Given the description of an element on the screen output the (x, y) to click on. 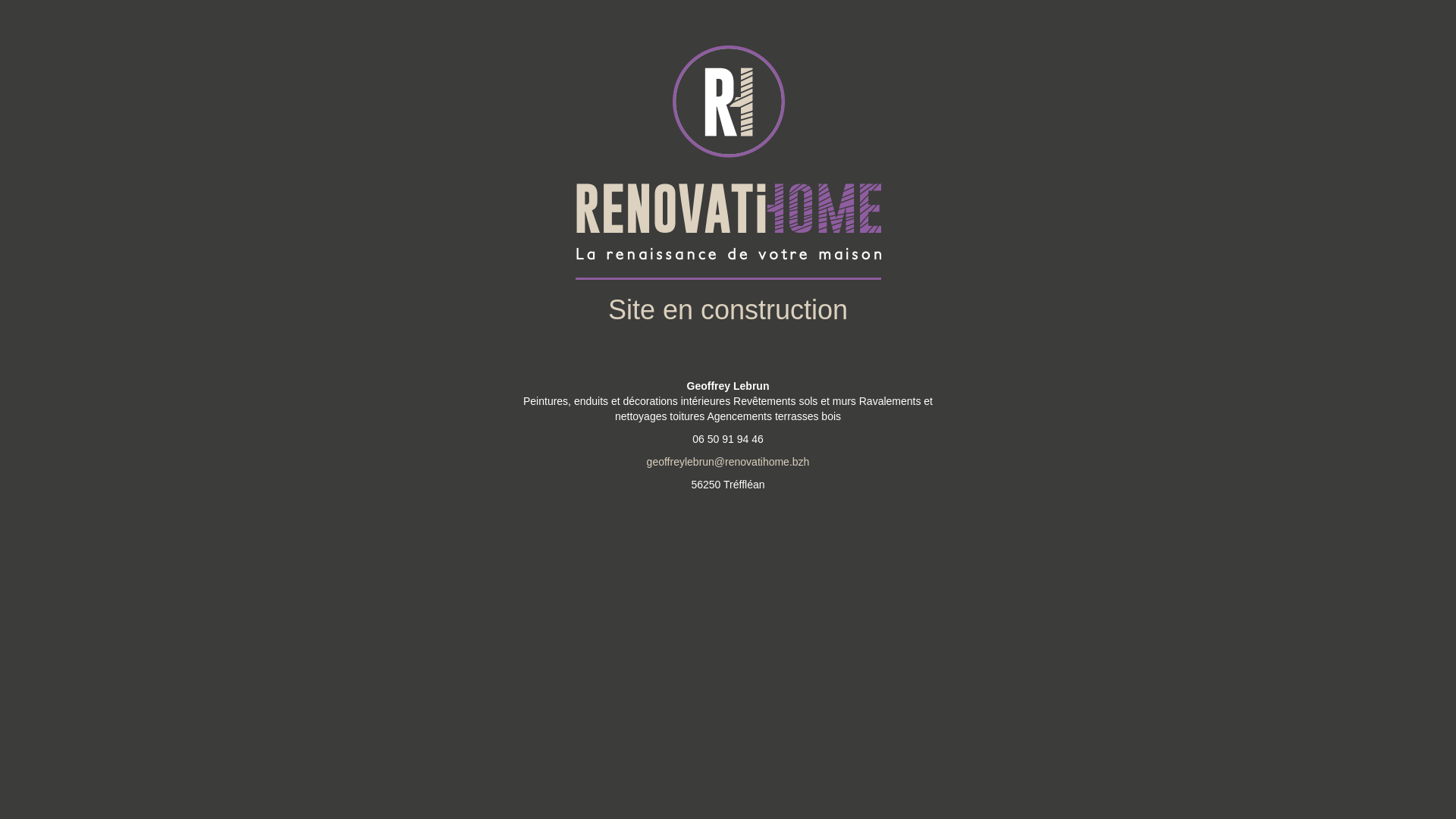
geoffreylebrun@renovatihome.bzh Element type: text (727, 461)
